Given the description of an element on the screen output the (x, y) to click on. 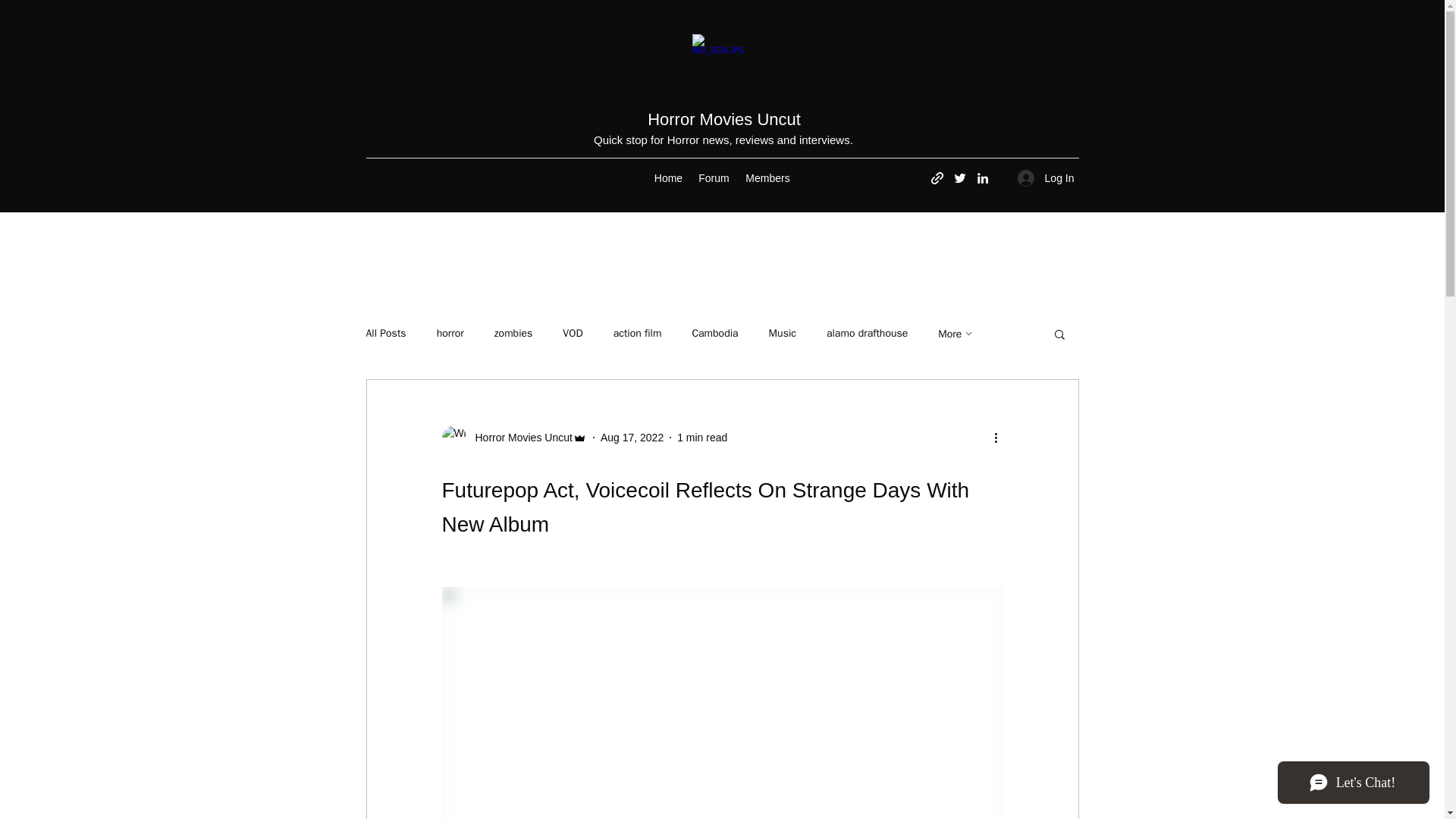
Home (668, 178)
All Posts (385, 333)
Cambodia (714, 333)
Members (766, 178)
alamo drafthouse (867, 333)
Log In (1045, 178)
Forum (713, 178)
zombies (513, 333)
Horror Movies Uncut (723, 118)
1 min read (701, 437)
Horror Movies Uncut (513, 437)
Aug 17, 2022 (631, 437)
Music (782, 333)
VOD (572, 333)
action film (637, 333)
